Given the description of an element on the screen output the (x, y) to click on. 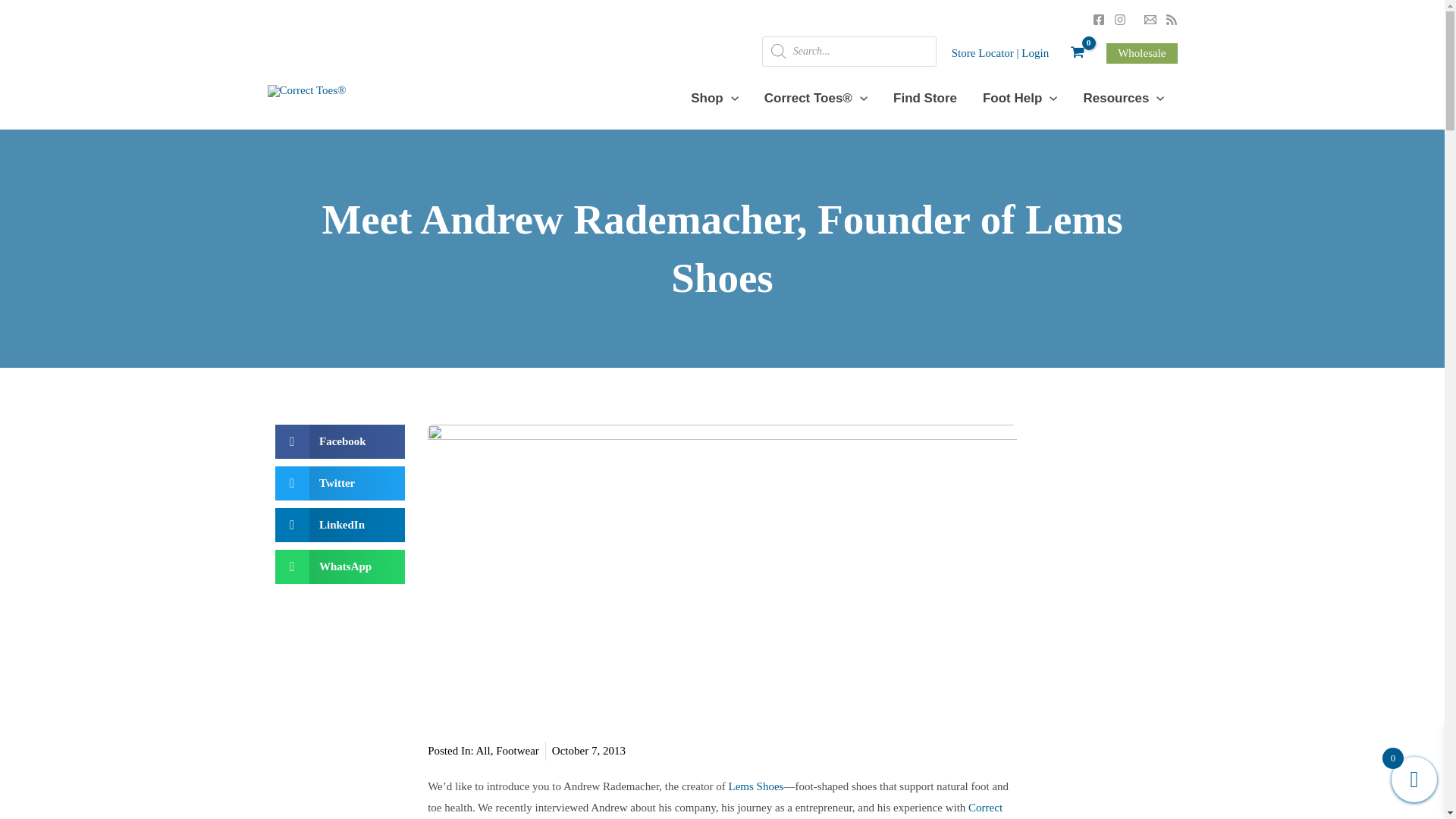
Shop (714, 97)
Store Locator (982, 52)
Login (1035, 52)
Wholesale (1141, 52)
